Given the description of an element on the screen output the (x, y) to click on. 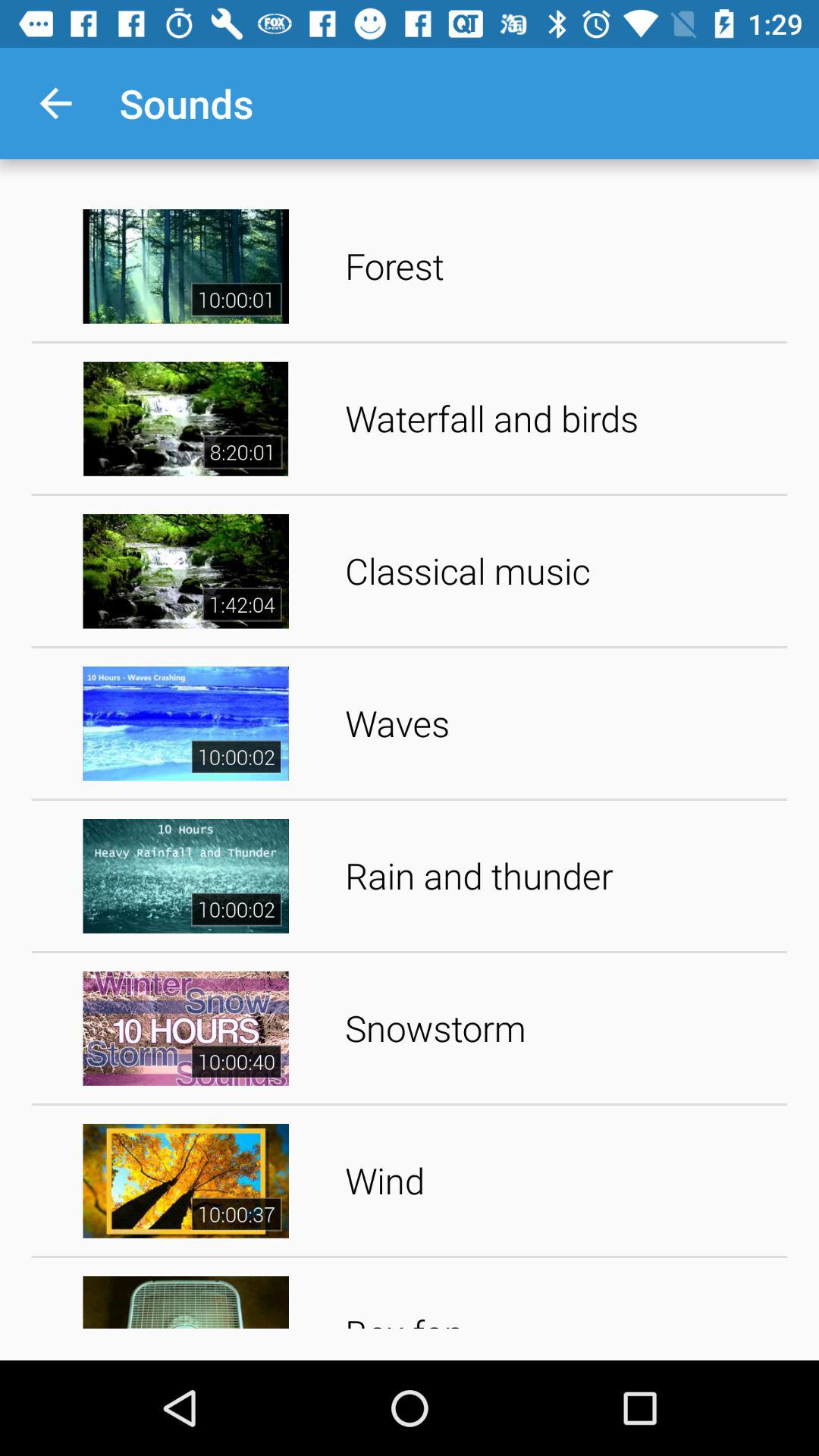
turn off the app next to sounds item (55, 103)
